Given the description of an element on the screen output the (x, y) to click on. 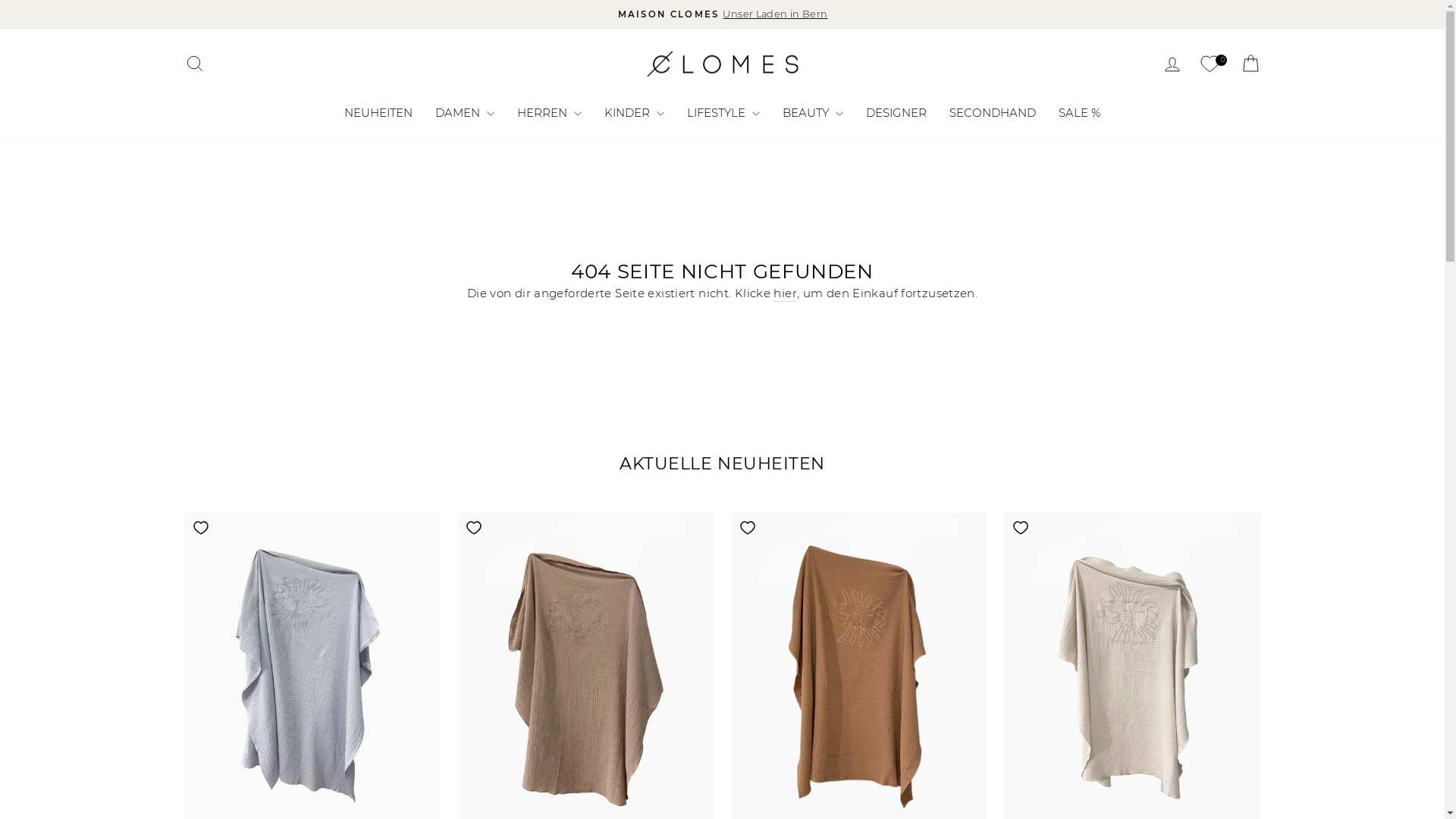
NEUHEITEN Element type: text (377, 111)
0 Element type: text (1209, 63)
ICON-SEARCH
SUCHE Element type: text (193, 63)
MAISON CLOMESUnser Laden in Bern Element type: text (722, 14)
hier Element type: text (785, 293)
SECONDHAND Element type: text (992, 111)
SALE % Element type: text (1079, 111)
ACCOUNT
EINLOGGEN Element type: text (1172, 63)
WARENKORB Element type: text (1249, 63)
DESIGNER Element type: text (896, 111)
